Given the description of an element on the screen output the (x, y) to click on. 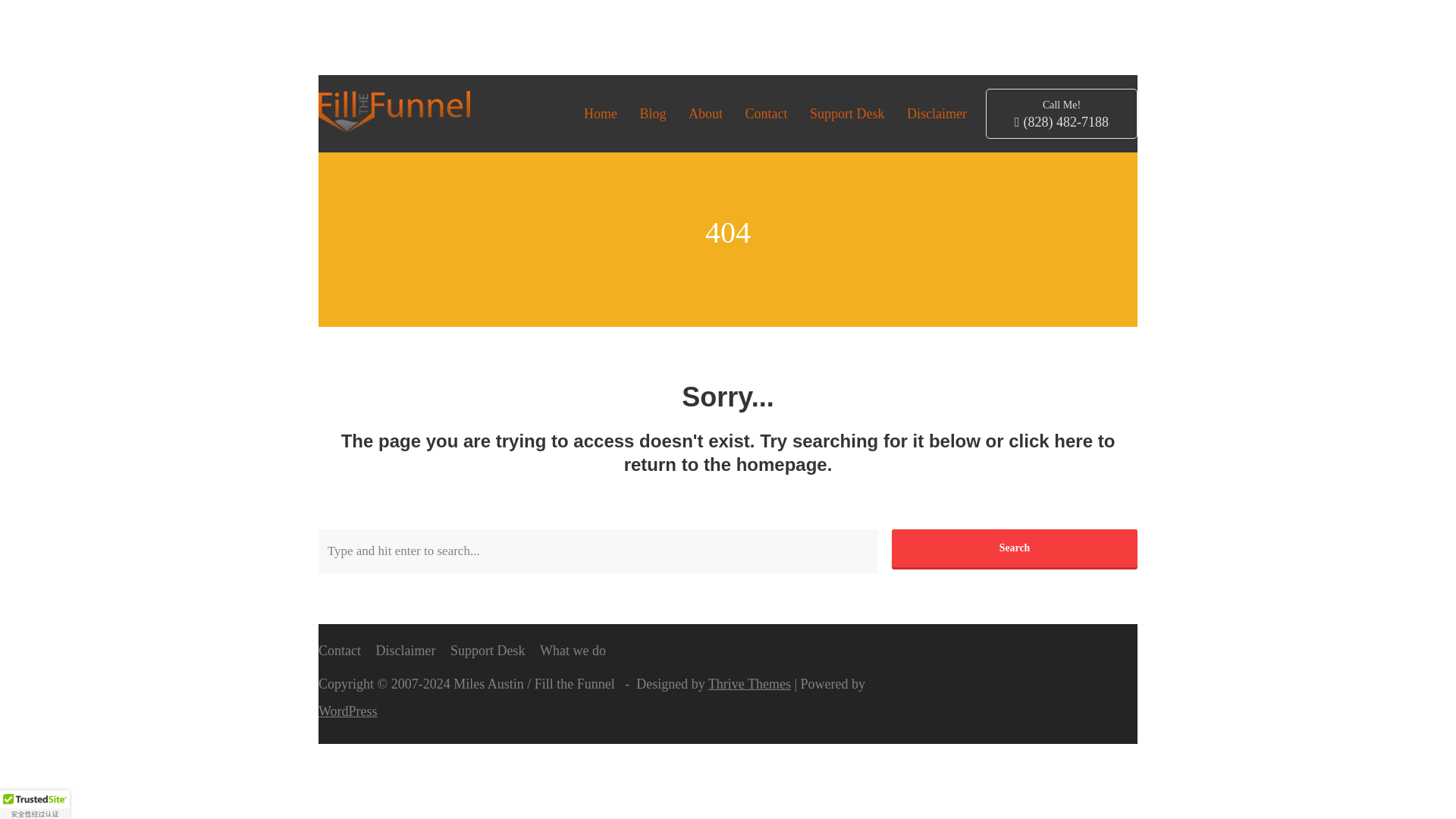
WordPress (347, 711)
Contact (339, 650)
What we do (572, 650)
Support Desk (487, 650)
Home (600, 114)
Search (1013, 548)
About (705, 114)
Blog (652, 114)
Contact (765, 114)
click here (1051, 440)
